Given the description of an element on the screen output the (x, y) to click on. 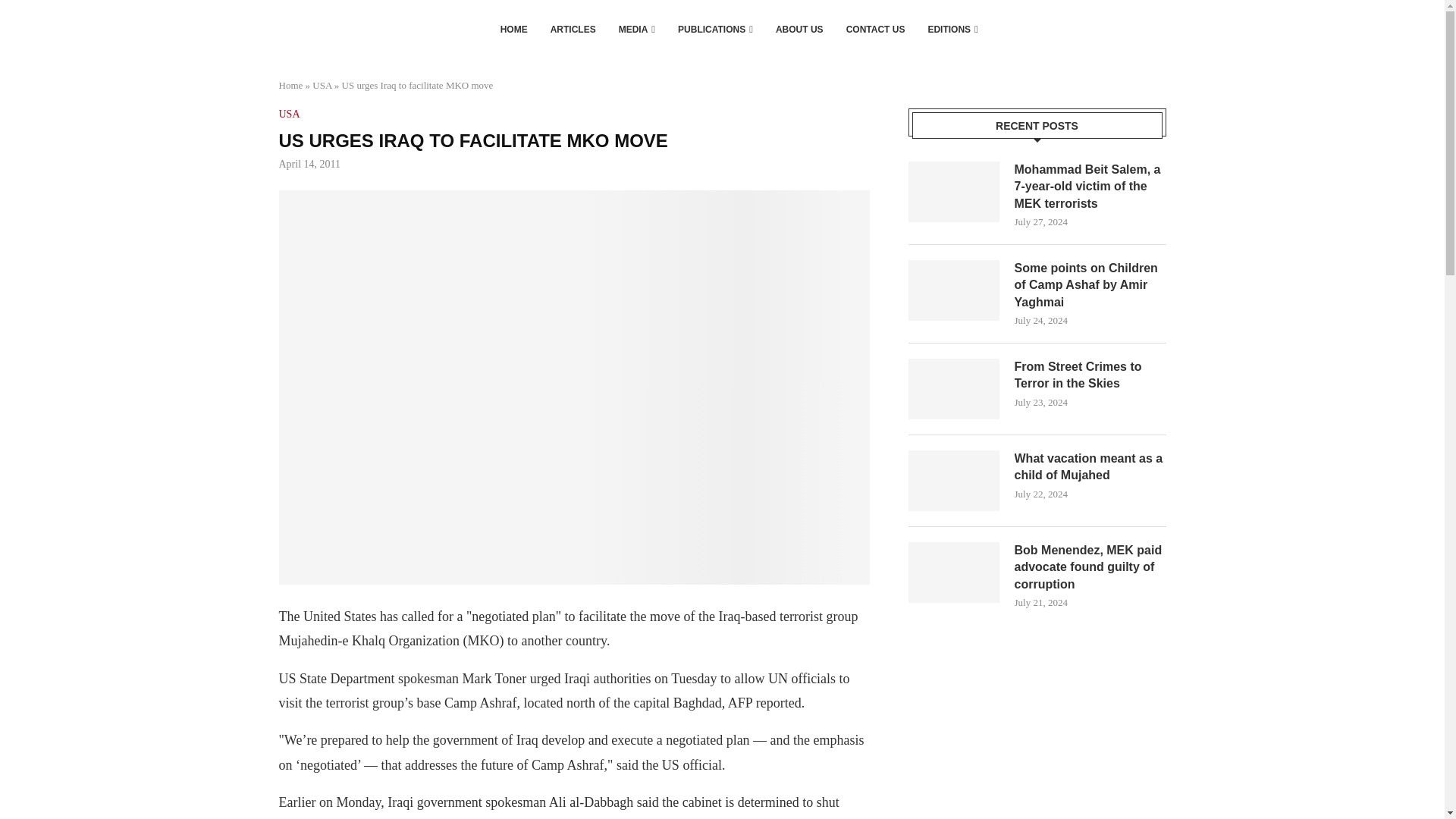
MEDIA (636, 29)
Some points on Children of Camp Ashaf by Amir Yaghmai (1090, 285)
PUBLICATIONS (715, 29)
CONTACT US (875, 29)
HOME (513, 29)
Some points on Children of Camp Ashaf by Amir Yaghmai (953, 290)
EDITIONS (951, 29)
ABOUT US (800, 29)
ARTICLES (572, 29)
